Given the description of an element on the screen output the (x, y) to click on. 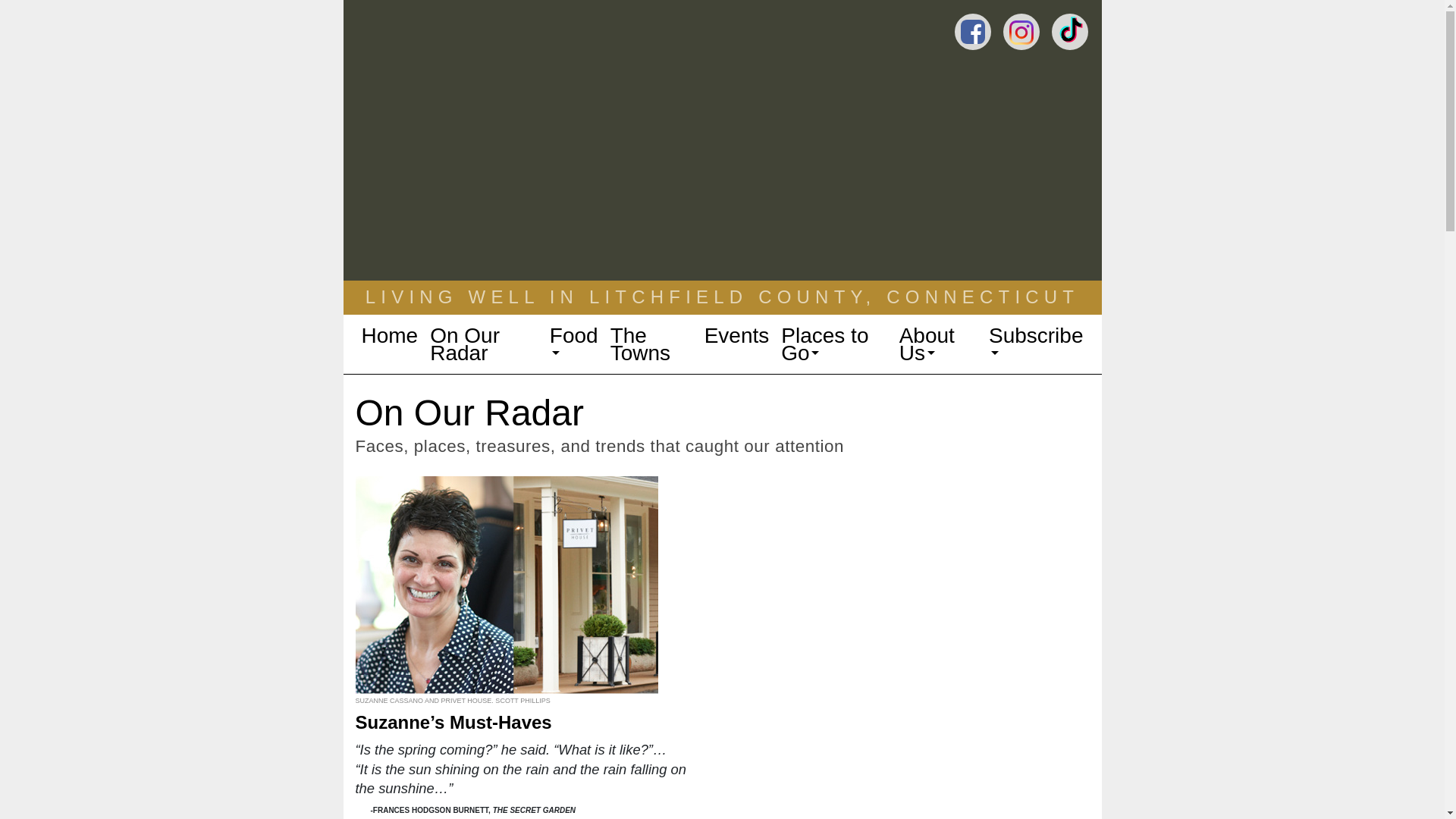
The Towns (651, 344)
On Our Radar (483, 344)
About Us (937, 344)
Places to Go (833, 344)
Subscribe (1035, 344)
Food (573, 344)
Home (389, 335)
Events (737, 335)
